Given the description of an element on the screen output the (x, y) to click on. 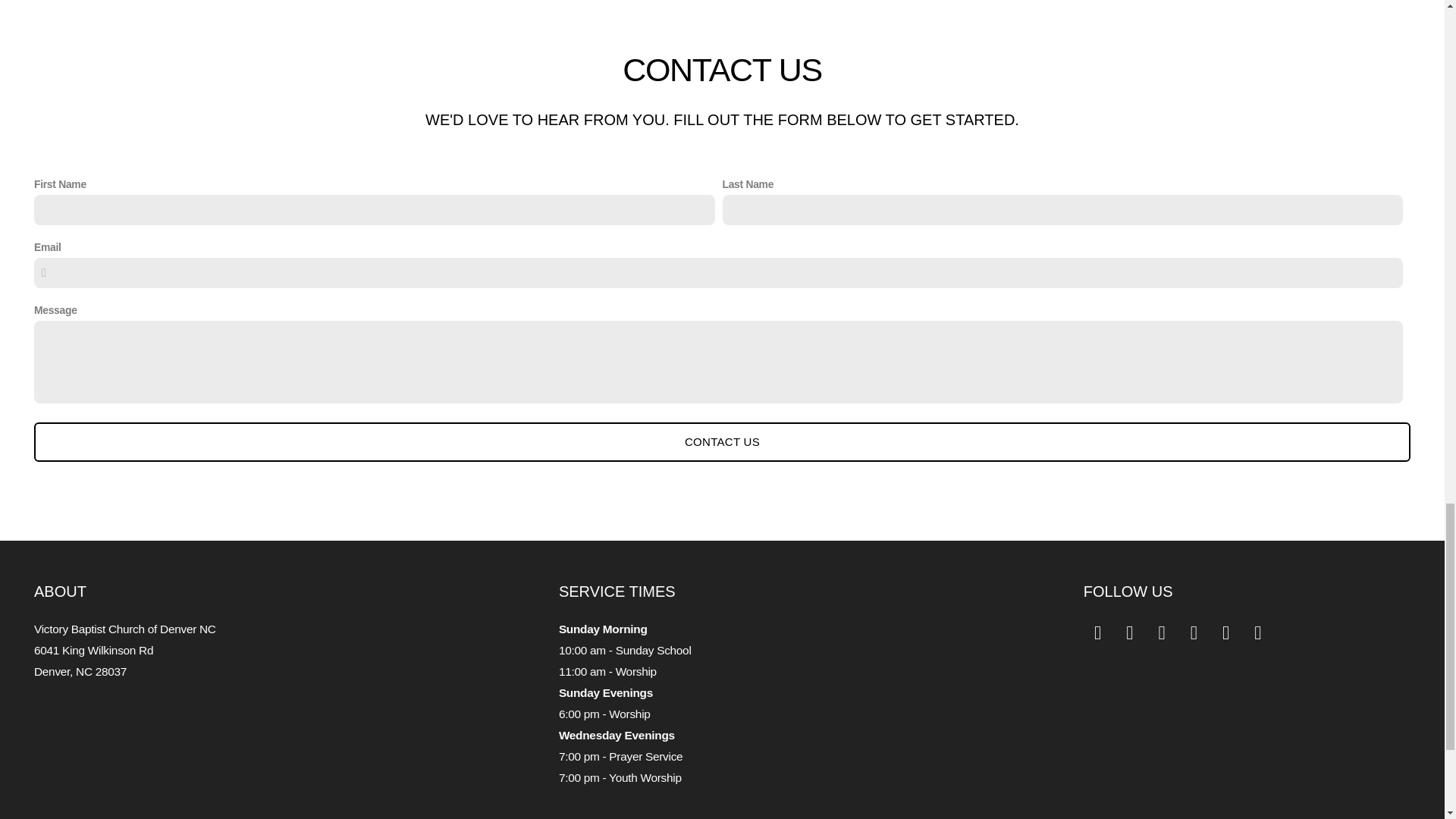
CONTACT US (721, 441)
